Given the description of an element on the screen output the (x, y) to click on. 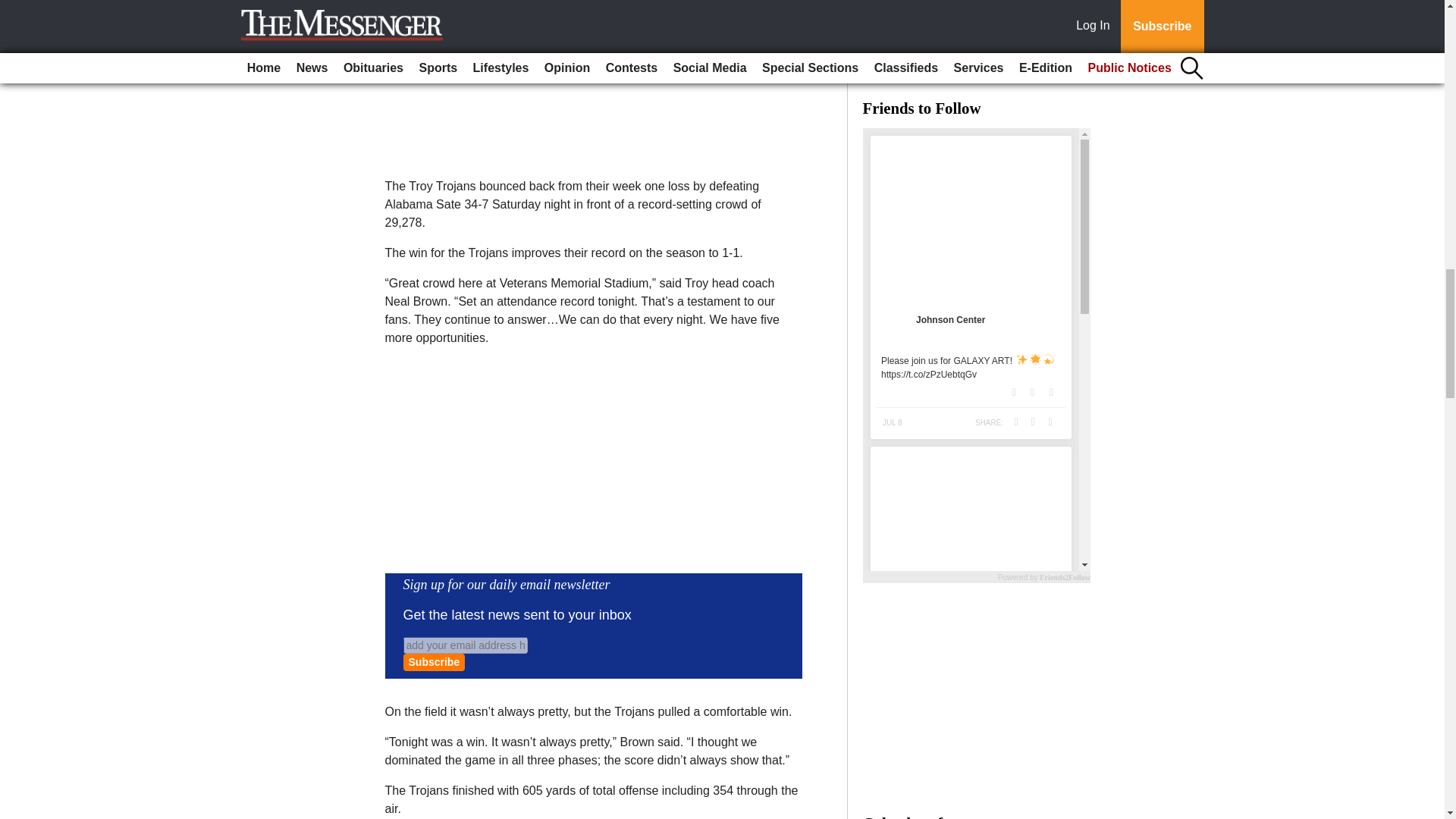
Subscribe (434, 661)
